Given the description of an element on the screen output the (x, y) to click on. 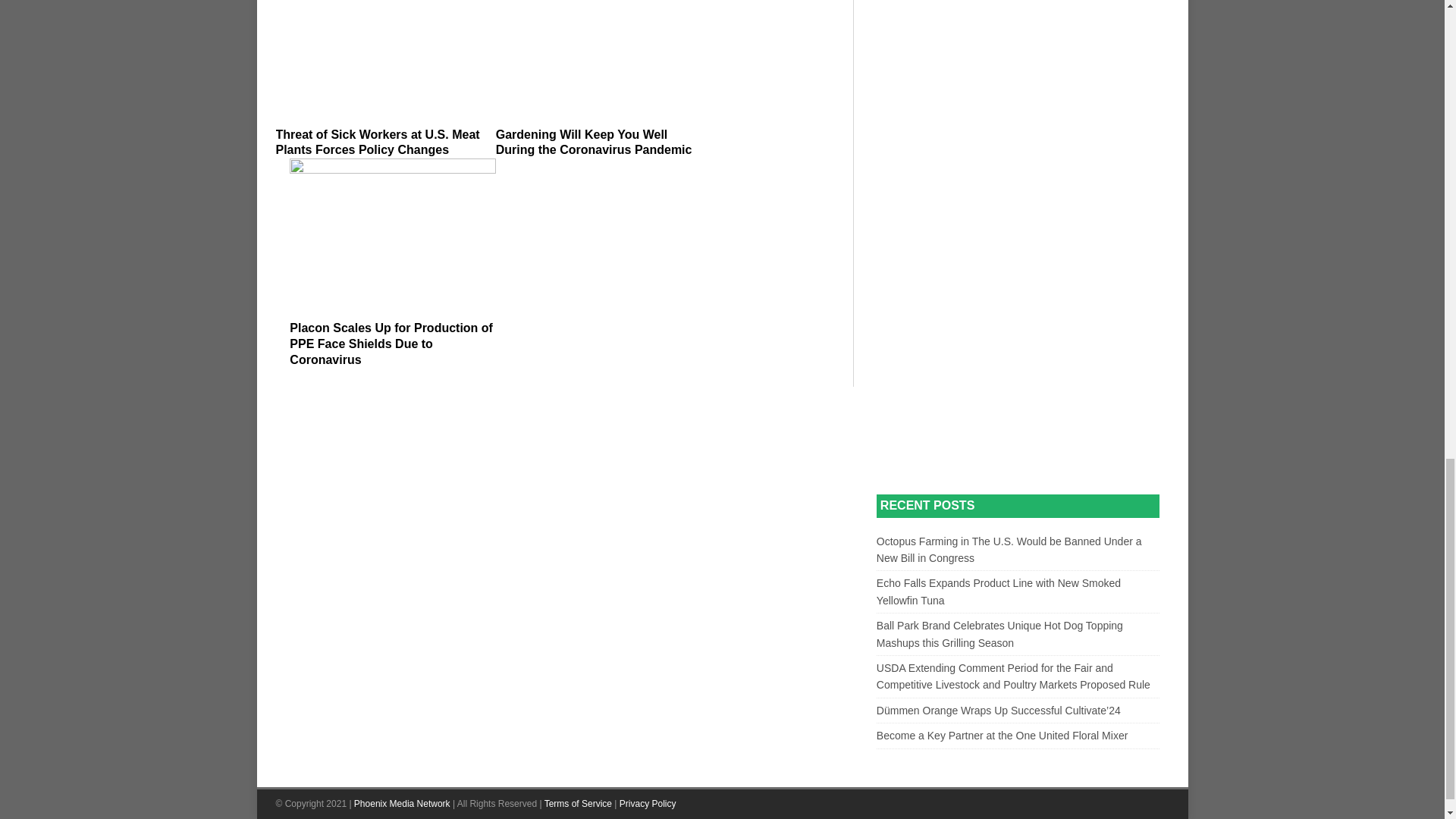
Gardening Will Keep You Well During the Coronavirus Pandemic (598, 59)
Gardening Will Keep You Well During the Coronavirus Pandemic (594, 142)
